Given the description of an element on the screen output the (x, y) to click on. 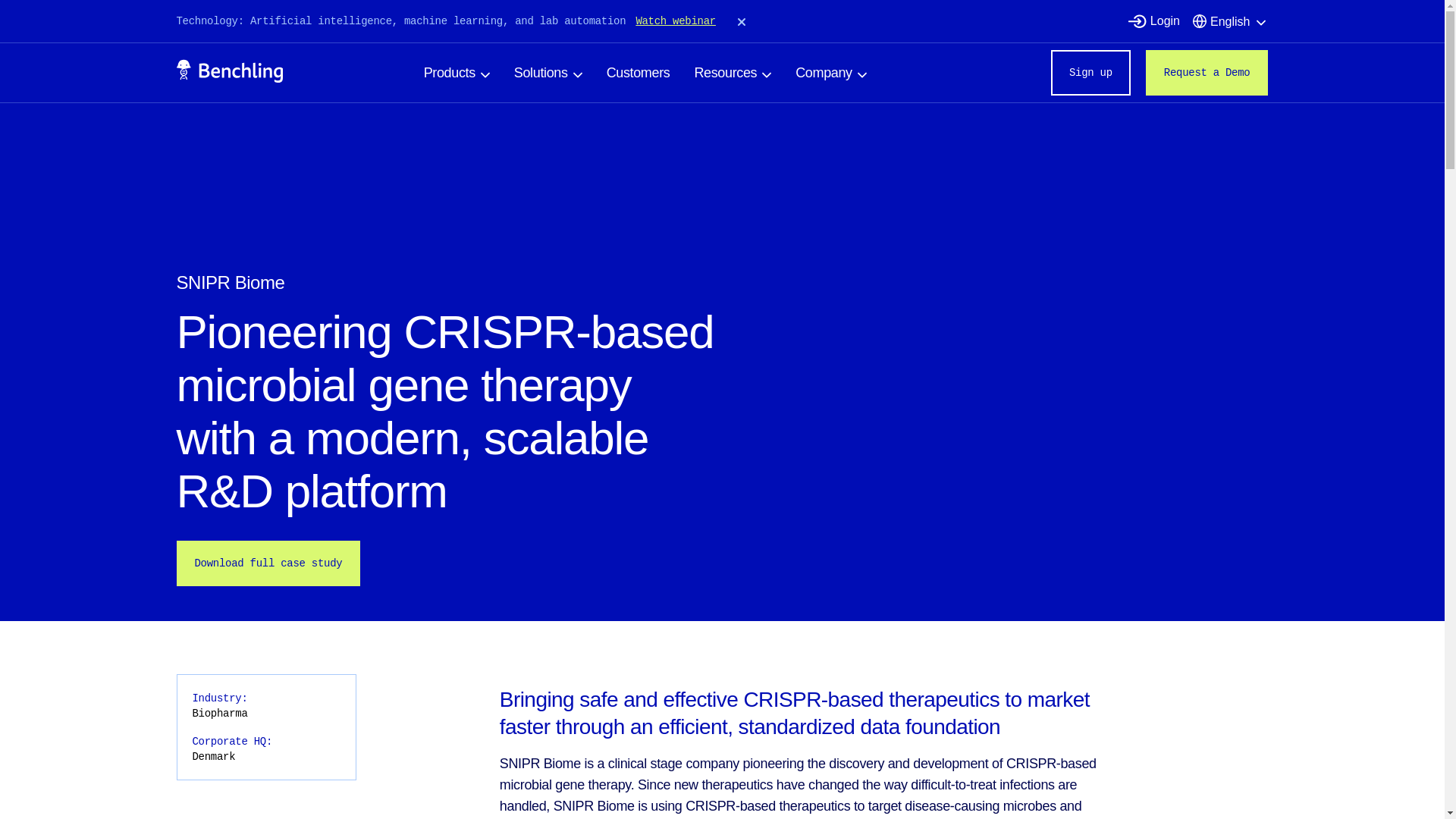
Request a Demo (1206, 72)
Company (830, 72)
Login (1164, 20)
Solutions (547, 72)
Watch webinar (675, 20)
Sign up (1091, 72)
Products (456, 72)
Customers (638, 72)
Download full case study (267, 563)
Resources (732, 72)
